Given the description of an element on the screen output the (x, y) to click on. 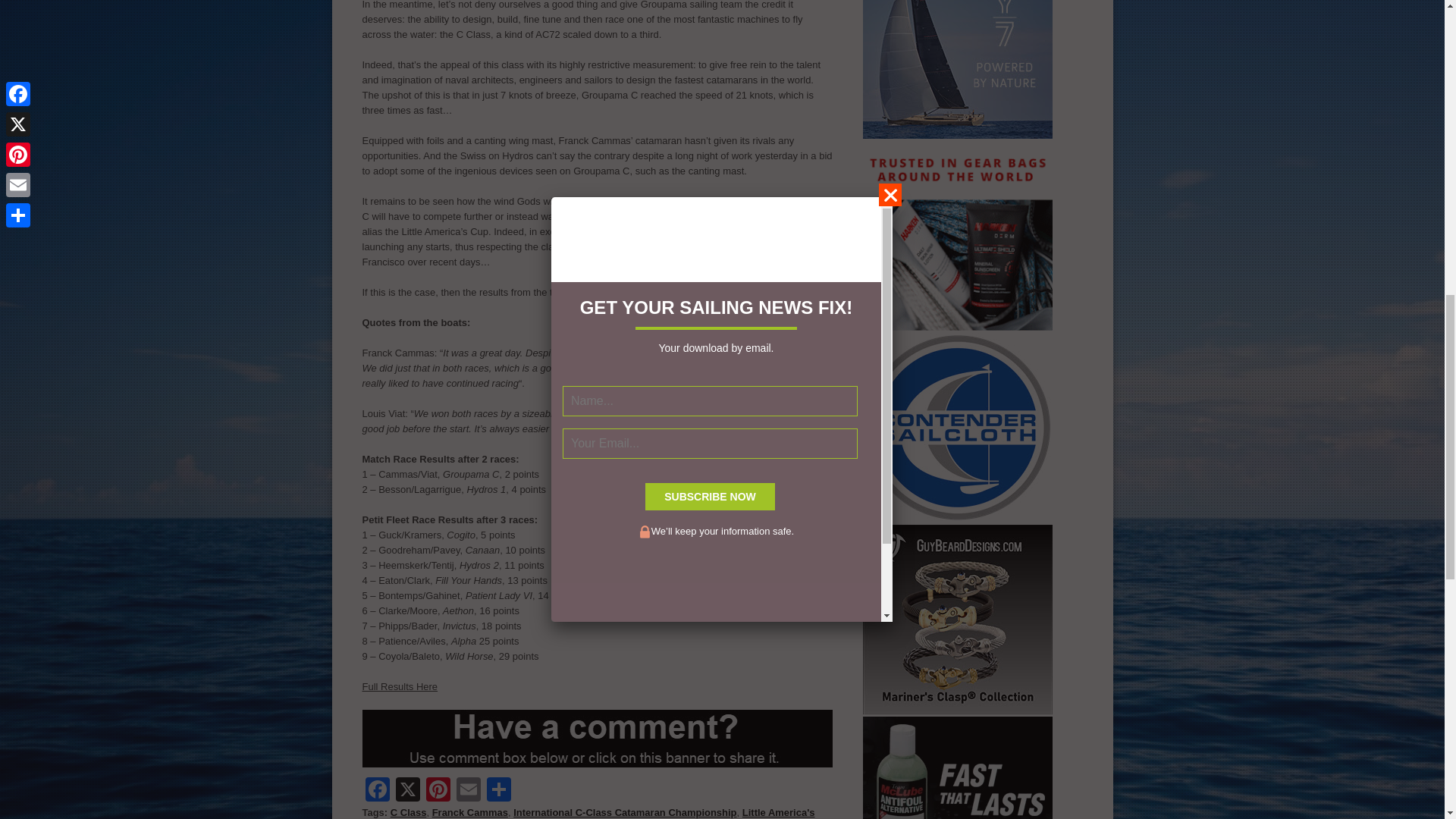
Email (467, 791)
X (408, 791)
C Class (408, 812)
Pinterest (437, 791)
Little America's Cup (588, 812)
Facebook (377, 791)
X (408, 791)
Franck Cammas (470, 812)
International C-Class Catamaran Championship (624, 812)
Email (467, 791)
Full Results Here (400, 686)
Facebook (377, 791)
Share (498, 791)
Pinterest (437, 791)
